Given the description of an element on the screen output the (x, y) to click on. 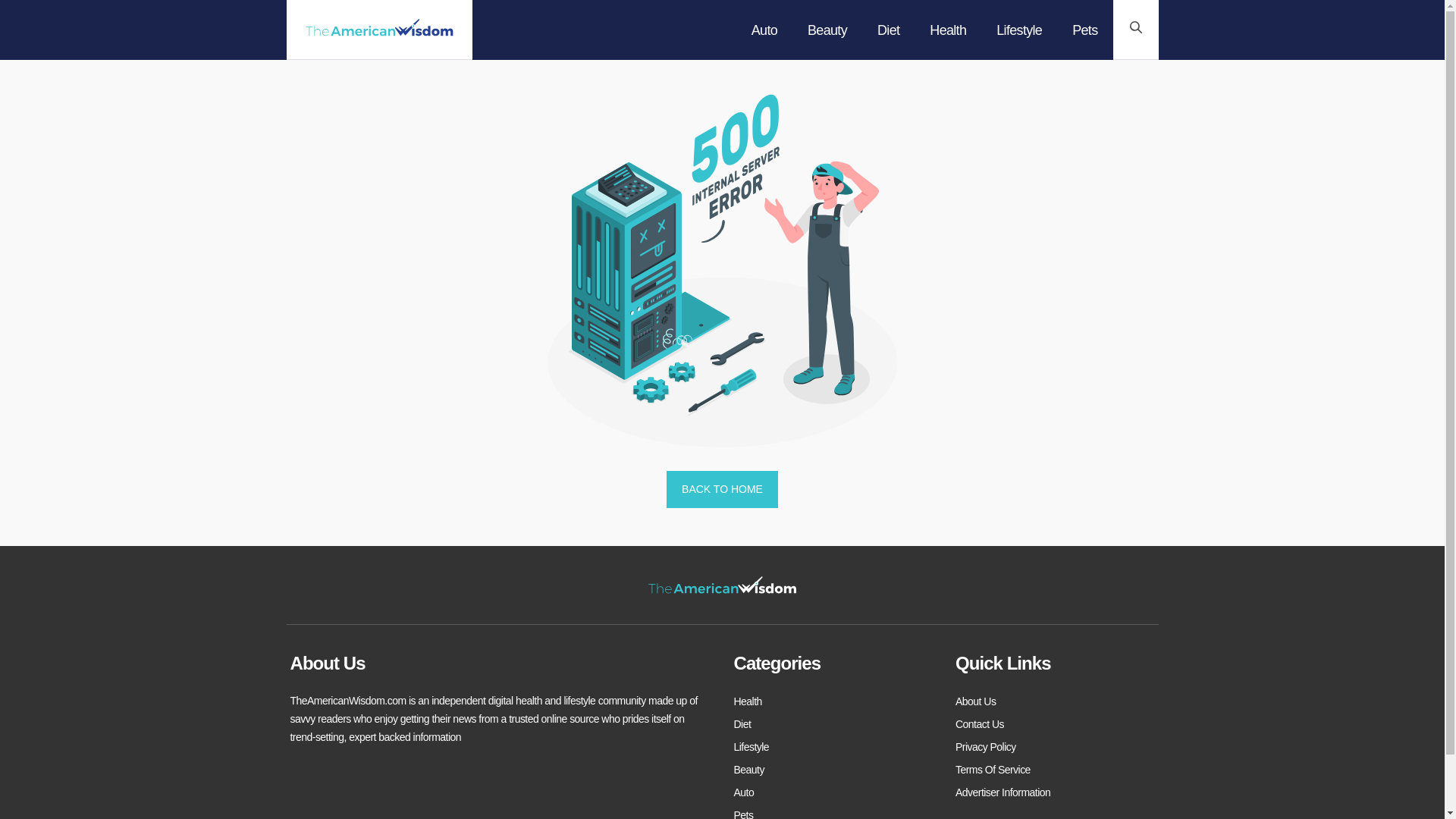
Advertiser Information (1002, 791)
BACK TO HOME (721, 489)
Privacy Policy (985, 746)
Beauty (748, 769)
Diet (742, 723)
Pets (743, 812)
About Us (975, 701)
Auto (743, 791)
Contact Us (979, 723)
Lifestyle (751, 746)
